Given the description of an element on the screen output the (x, y) to click on. 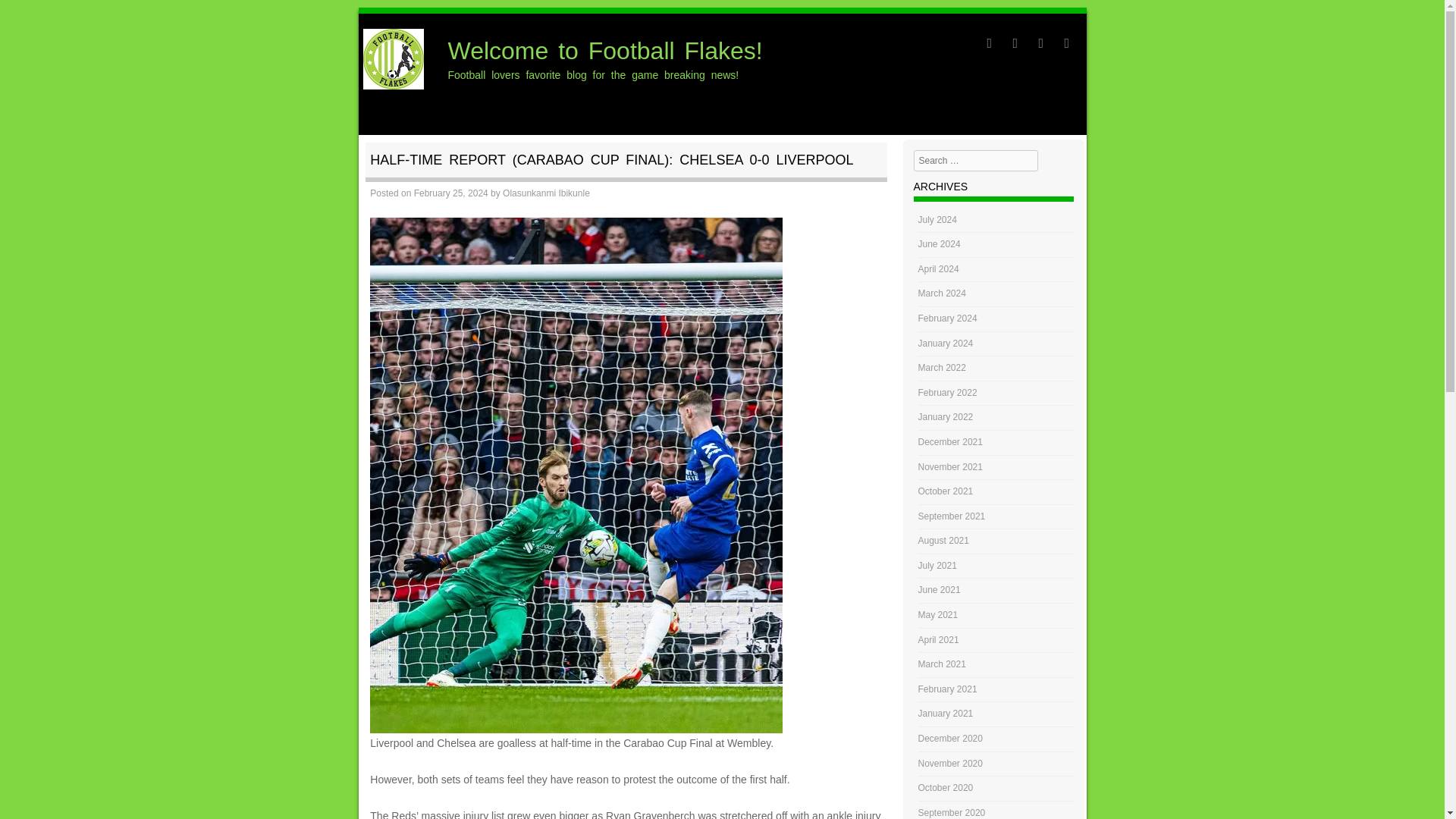
Olasunkanmi Ibikunle (545, 193)
Welcome to Football Flakes! (604, 50)
March 2021 (942, 688)
February 2024 (947, 343)
View all posts by Olasunkanmi Ibikunle (545, 193)
February 2021 (947, 713)
August 2024 (943, 219)
5:09 pm (450, 193)
October 2021 (946, 516)
July 2021 (937, 589)
